Given the description of an element on the screen output the (x, y) to click on. 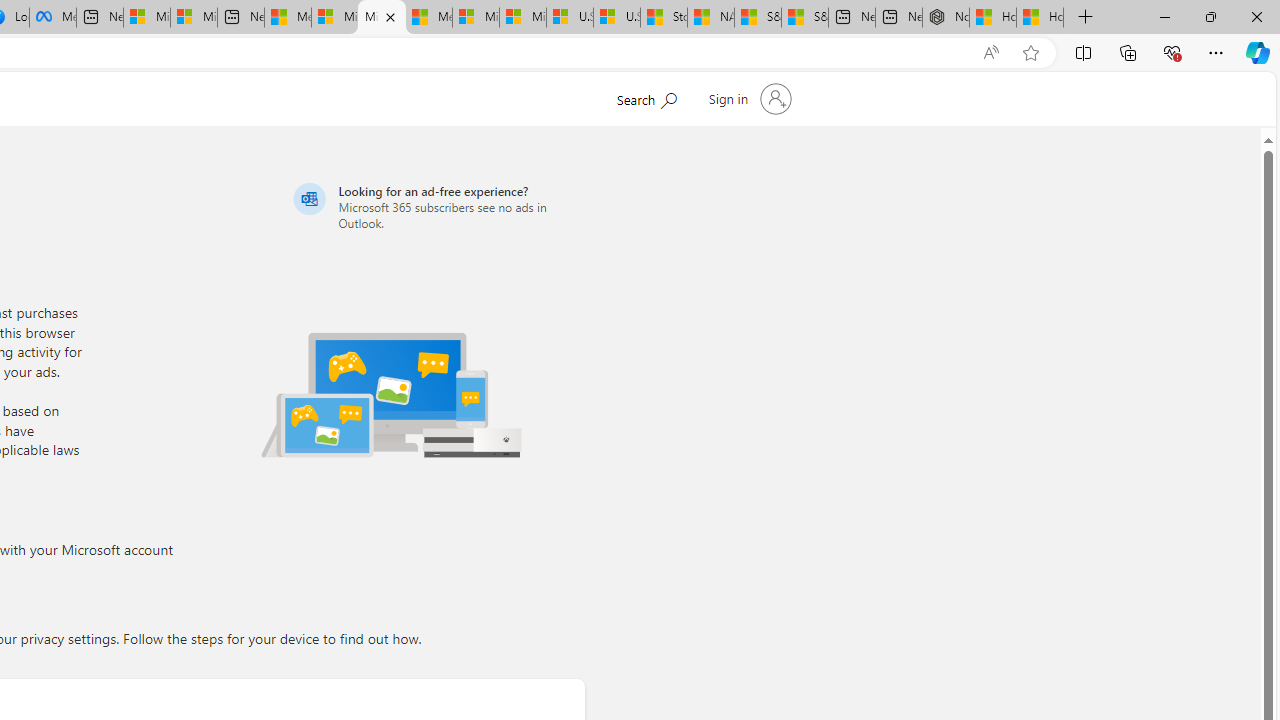
Meta Store (52, 17)
S&P 500, Nasdaq end lower, weighed by Nvidia dip | Watch (805, 17)
Search Microsoft.com (646, 97)
